Given the description of an element on the screen output the (x, y) to click on. 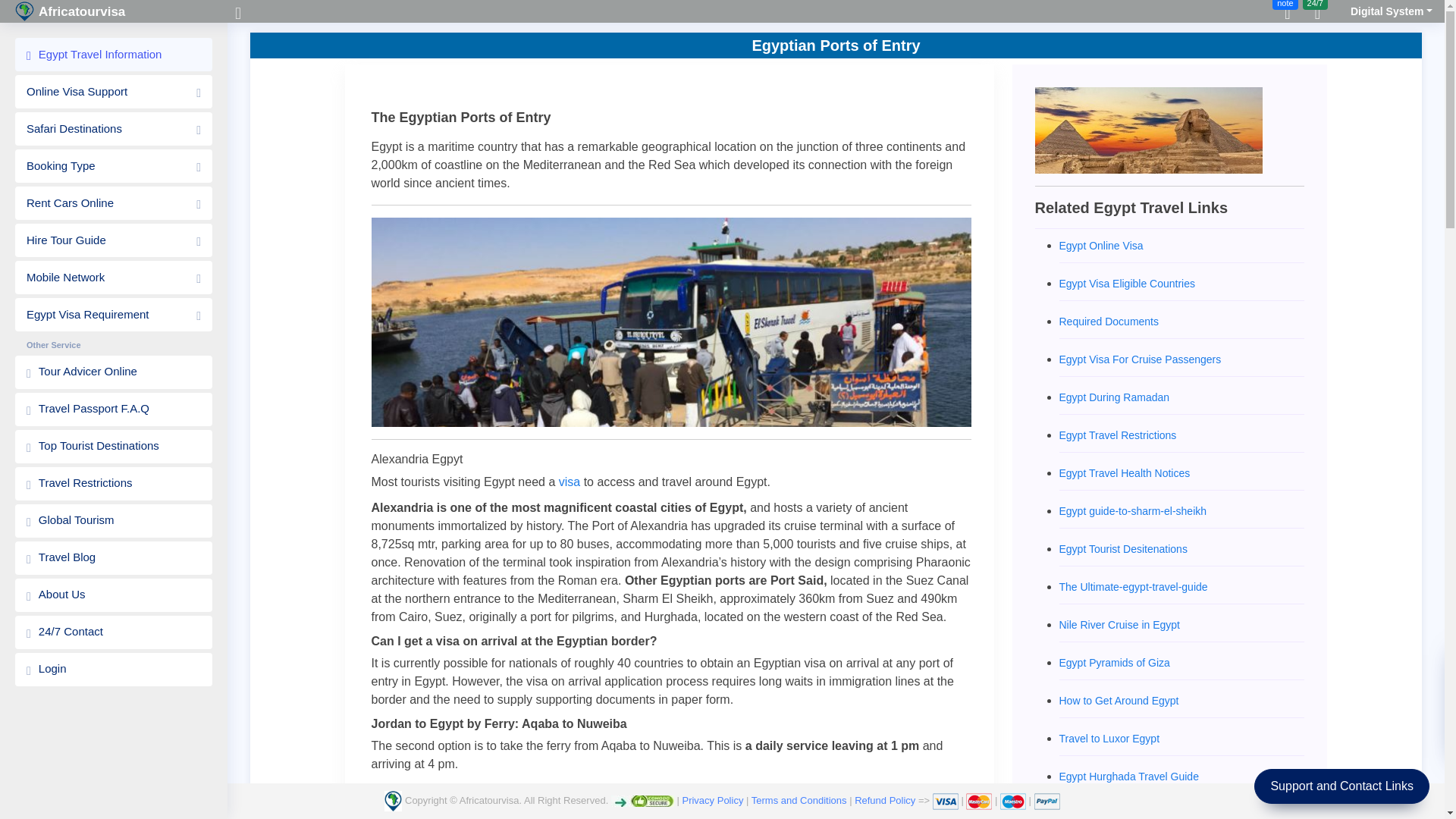
Booking Type (113, 165)
Africatourvisa (120, 11)
Hire Tour Guide (113, 240)
Rent Cars Online (113, 203)
note (1286, 14)
Online Visa Support (113, 91)
Digital System (1382, 12)
Egypt Travel Information (113, 54)
Safari Destinations (113, 128)
